Given the description of an element on the screen output the (x, y) to click on. 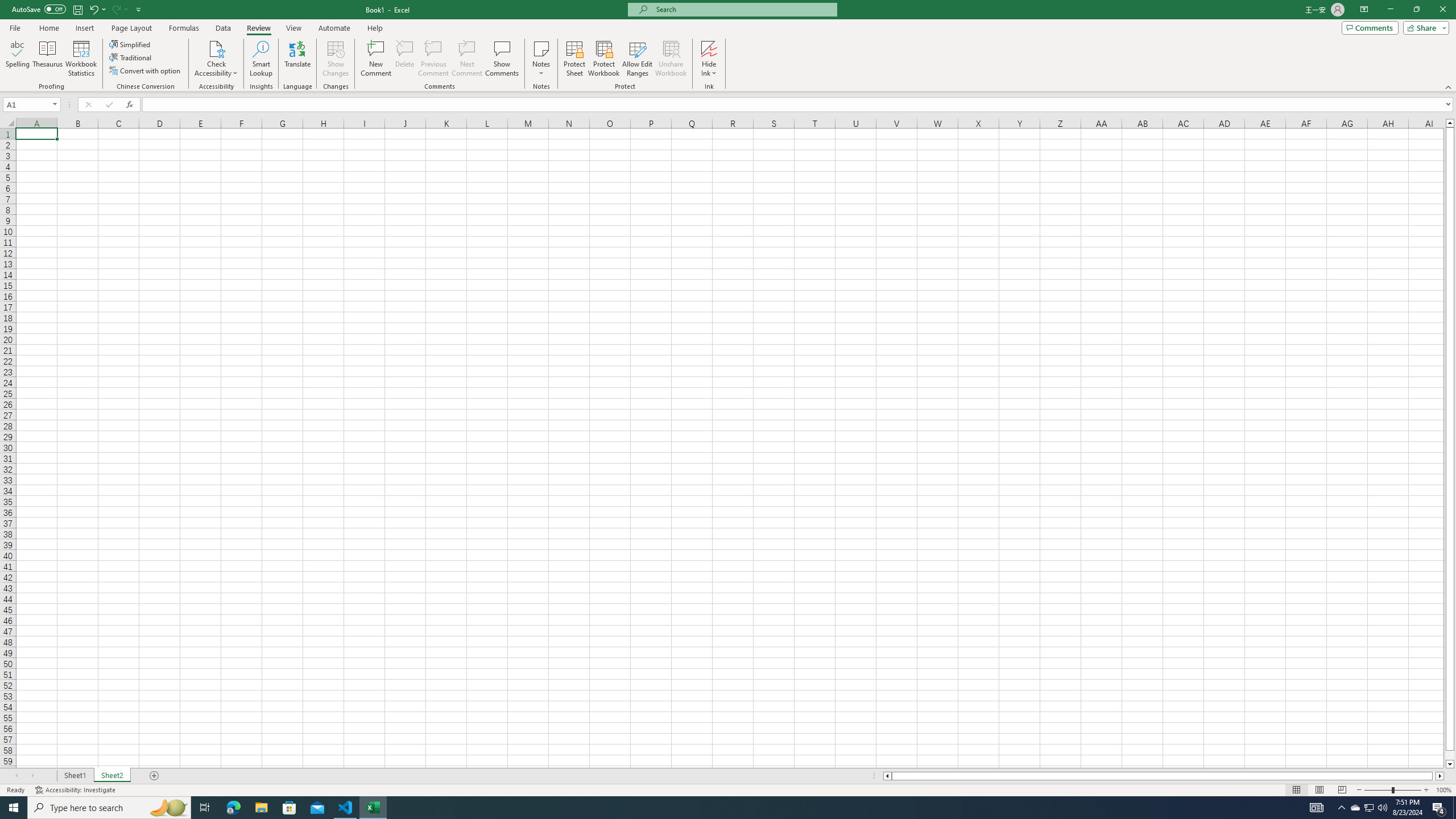
Delete (404, 58)
Hide Ink (708, 58)
Protect Workbook... (603, 58)
Thesaurus... (47, 58)
Accessibility Checker Accessibility: Investigate (76, 790)
Formula Bar (799, 104)
Protect Sheet... (574, 58)
Convert with option (145, 69)
